Given the description of an element on the screen output the (x, y) to click on. 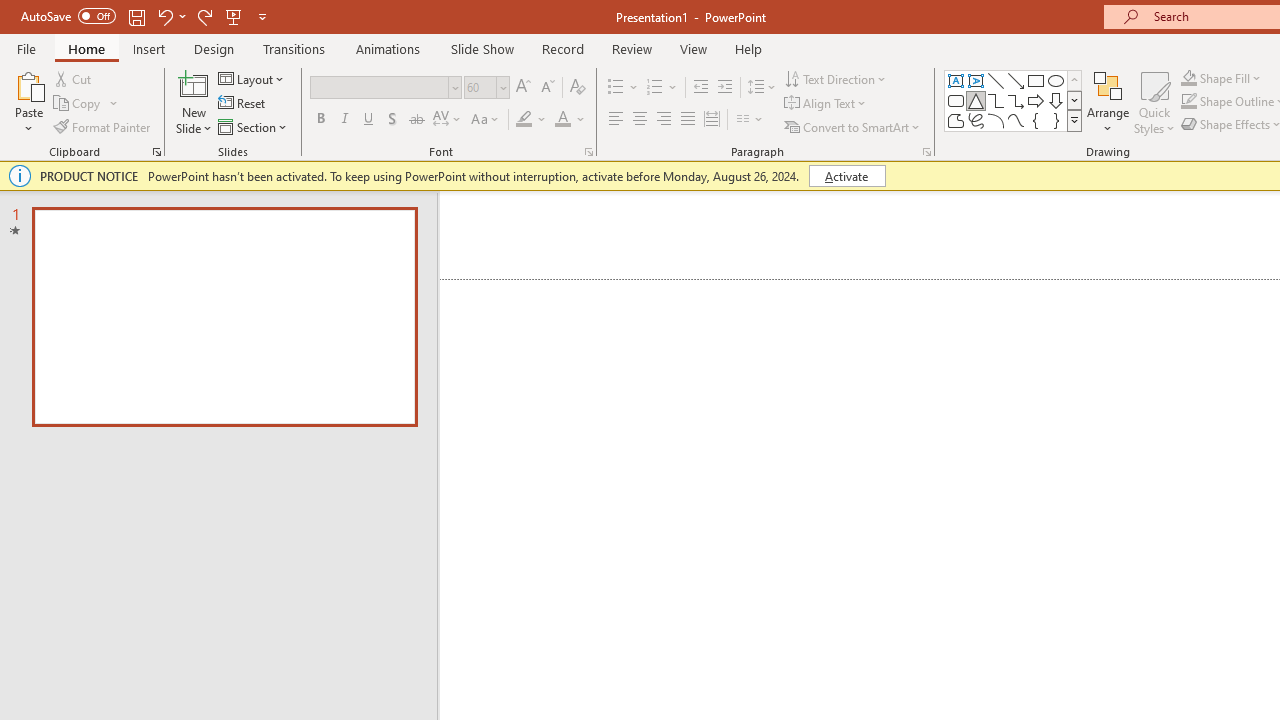
Distributed (712, 119)
Bold (320, 119)
Center (639, 119)
Rectangle: Rounded Corners (955, 100)
Copy (85, 103)
Quick Styles (1154, 102)
Numbering (654, 87)
Increase Font Size (522, 87)
Text Highlight Color (531, 119)
Shape Fill (1221, 78)
Reset (243, 103)
